Given the description of an element on the screen output the (x, y) to click on. 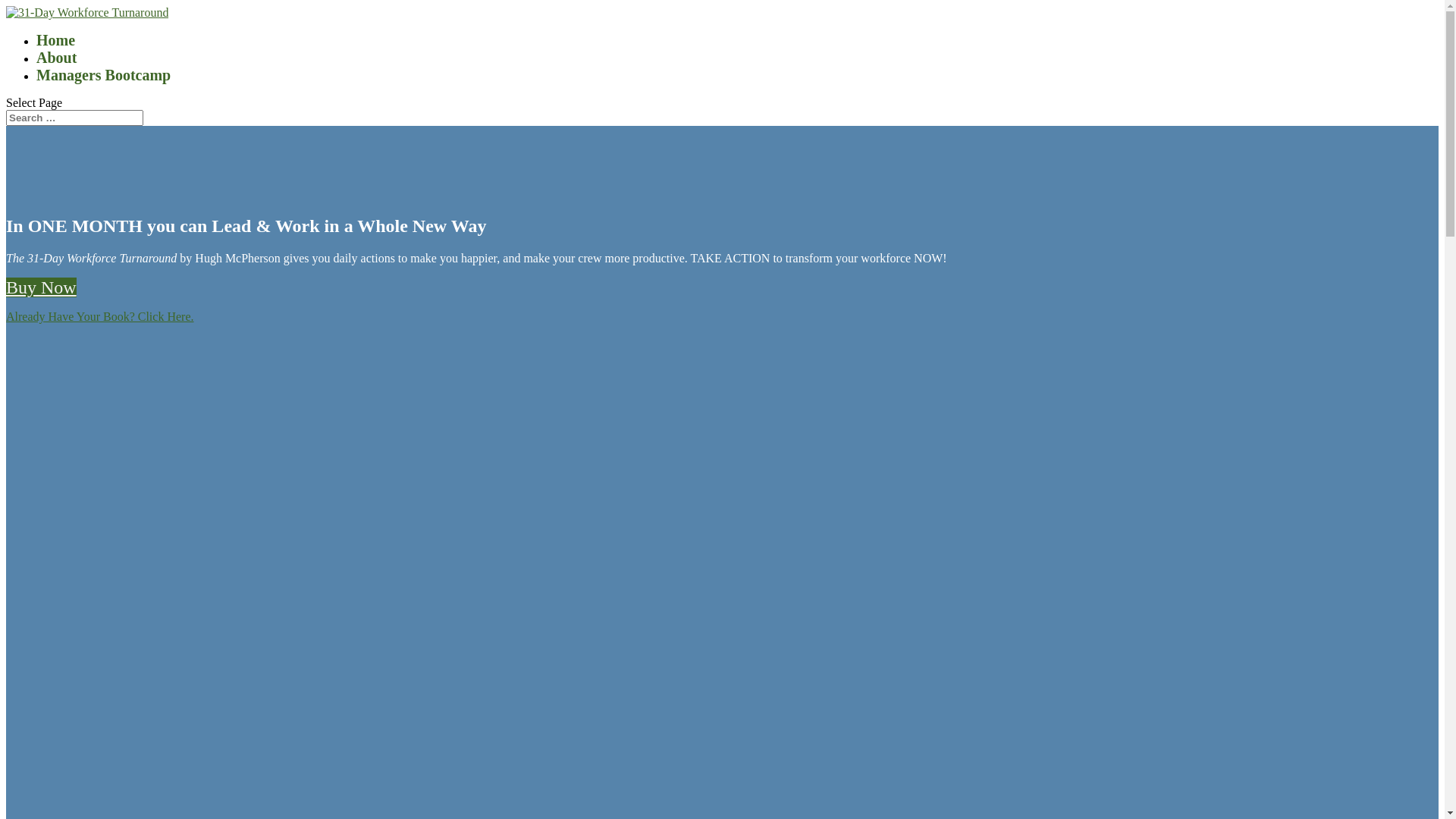
Already Have Your Book? Click Here. Element type: text (100, 316)
Managers Bootcamp Element type: text (103, 74)
Search for: Element type: hover (74, 117)
Buy Now Element type: text (41, 287)
The 31 Day Workforce Turnaround - Interview with the Author Element type: hover (415, 566)
Home Element type: text (55, 39)
About Element type: text (56, 57)
